Given the description of an element on the screen output the (x, y) to click on. 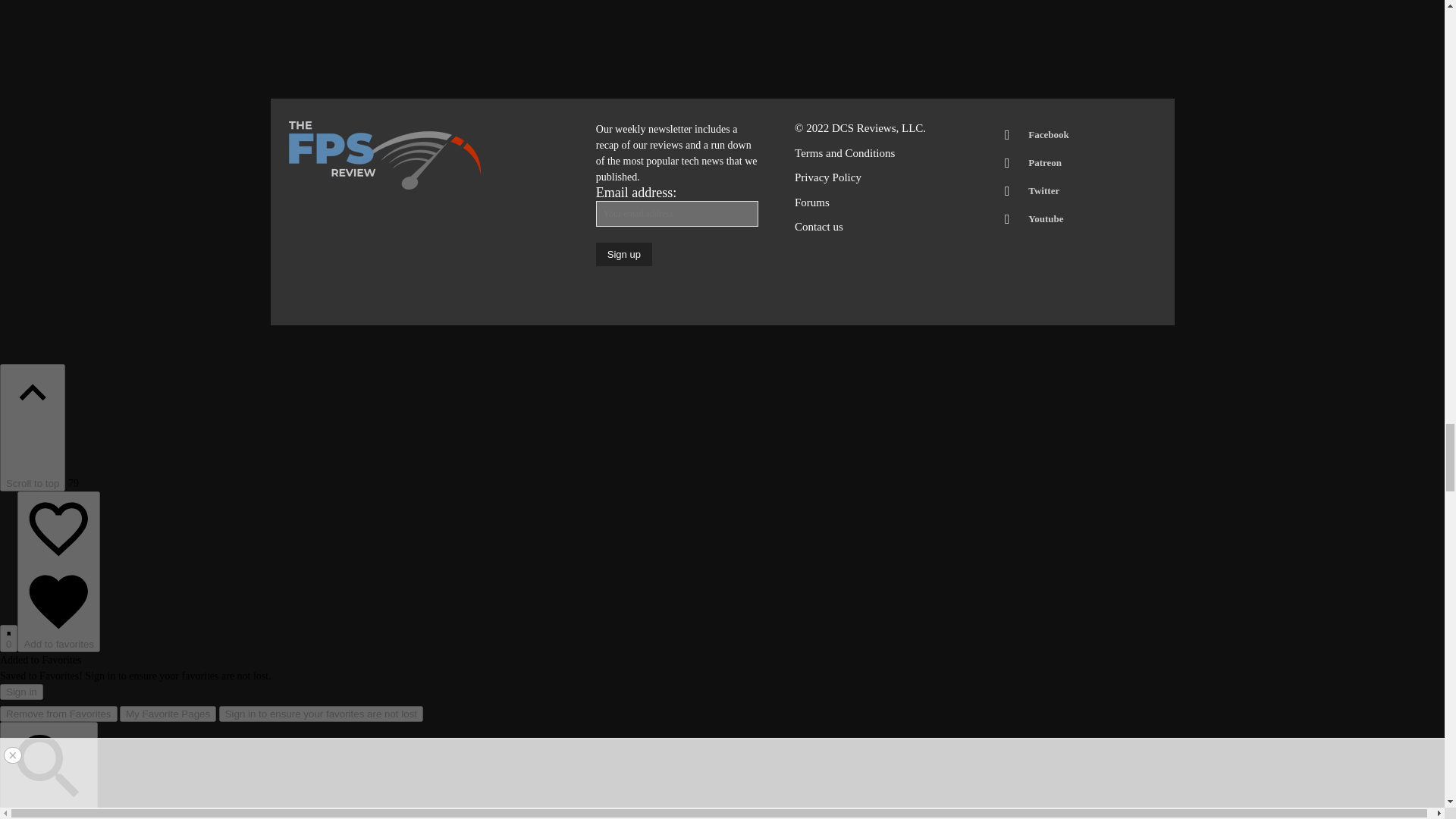
Sign up (623, 254)
